Given the description of an element on the screen output the (x, y) to click on. 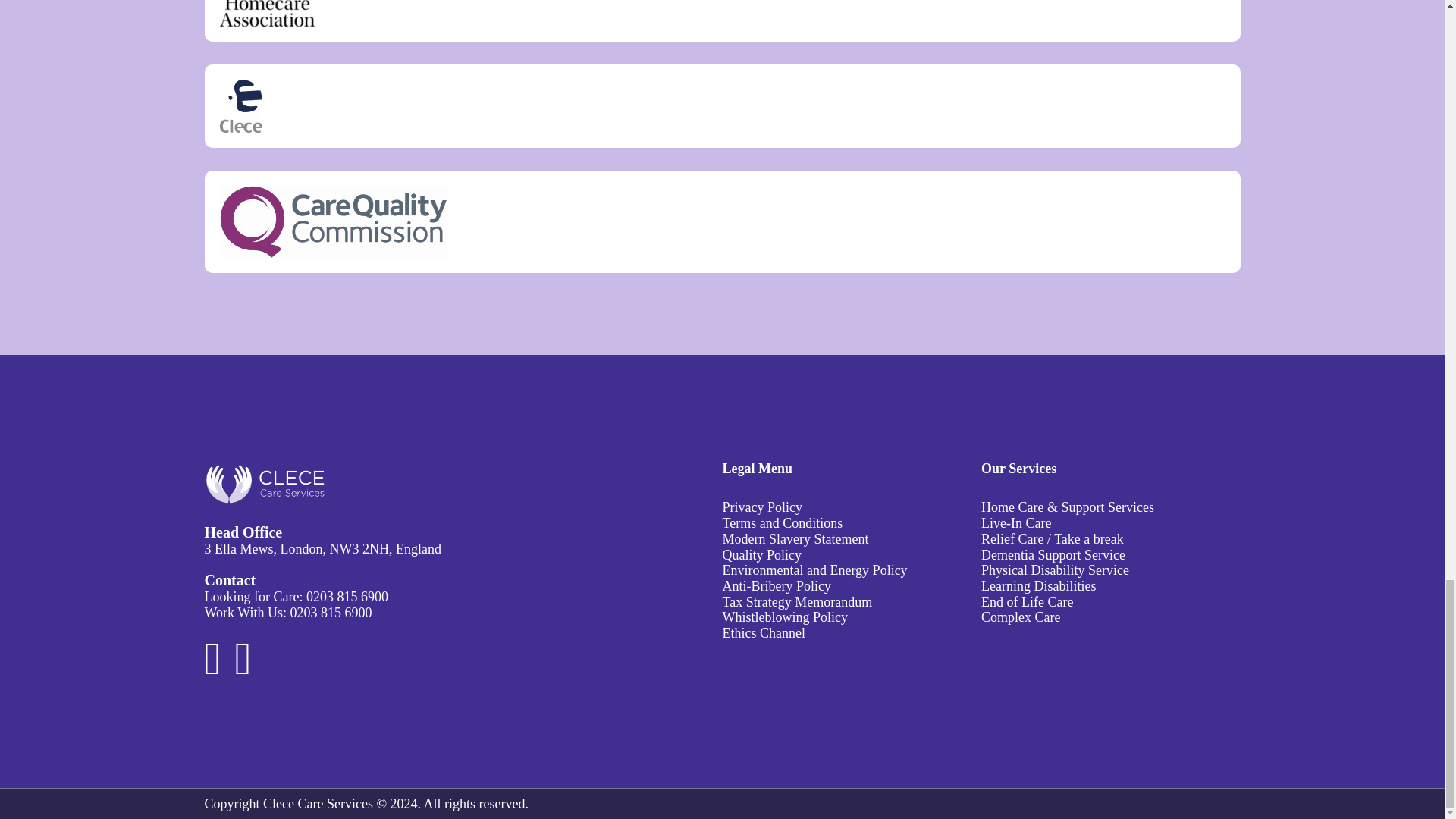
Facebook (219, 669)
LinkedIn (242, 669)
